Given the description of an element on the screen output the (x, y) to click on. 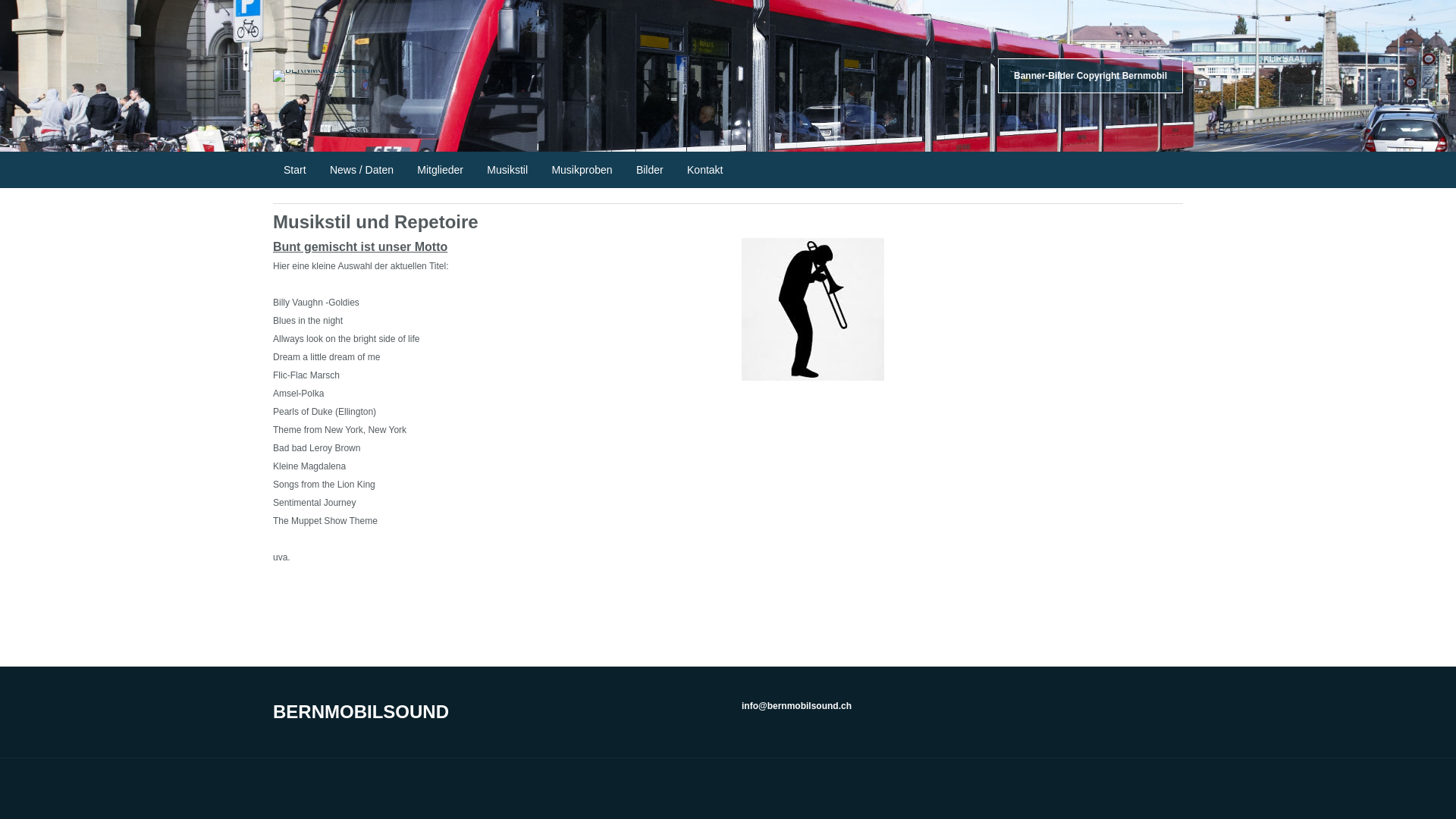
Kontakt Element type: text (704, 169)
Musikproben Element type: text (581, 169)
info@bernmobilsound.ch Element type: text (796, 705)
News / Daten Element type: text (361, 169)
Start Element type: text (294, 169)
Bilder Element type: text (649, 169)
Musikstil Element type: text (507, 169)
Mitglieder Element type: text (439, 169)
BERNMOBILSOUND Element type: text (360, 711)
